Given the description of an element on the screen output the (x, y) to click on. 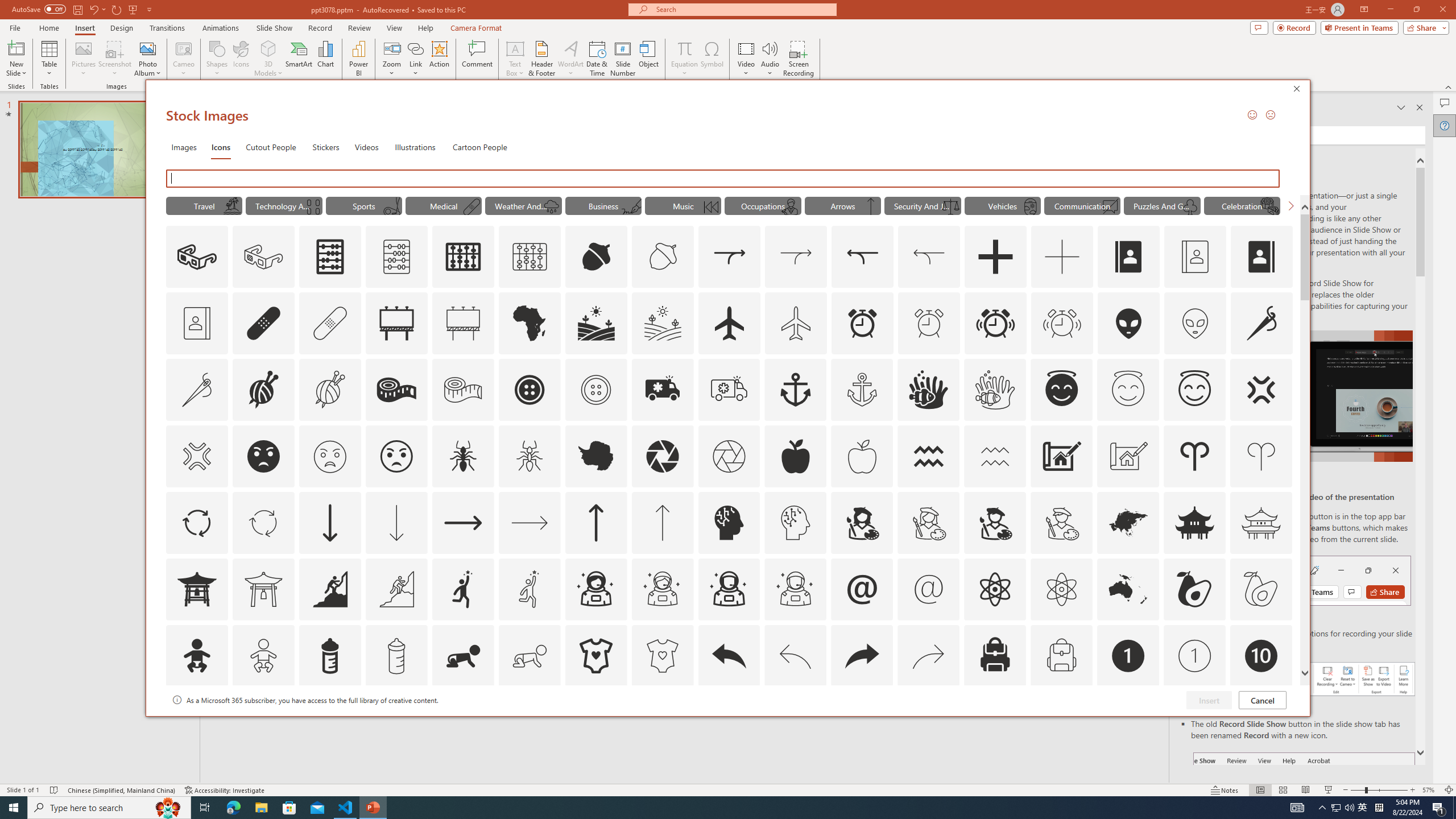
Slide Number (622, 58)
AutomationID: Icons_Aries_M (1260, 455)
Chart... (325, 58)
Images (183, 146)
AutomationID: Icons_Acquisition_LTR (729, 256)
